Given the description of an element on the screen output the (x, y) to click on. 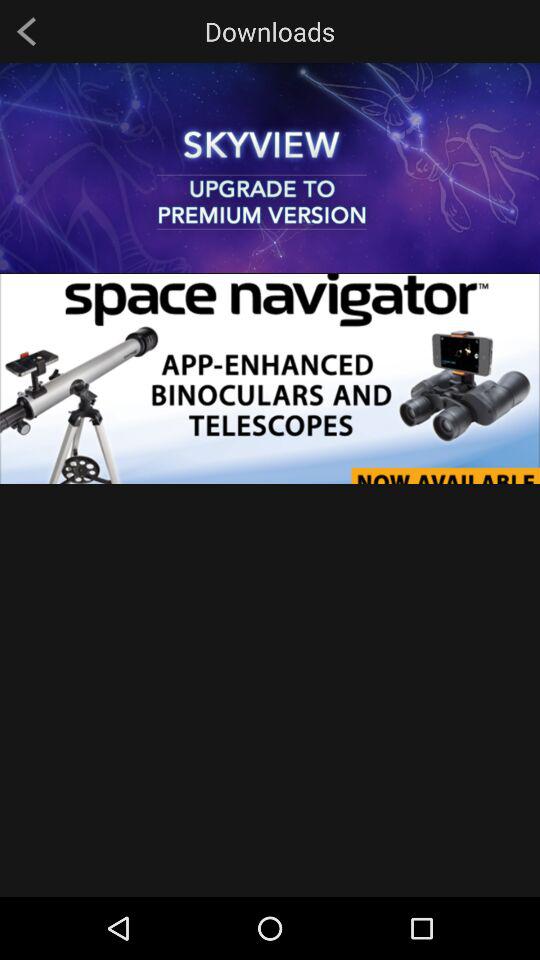
turn on item next to downloads icon (26, 31)
